Given the description of an element on the screen output the (x, y) to click on. 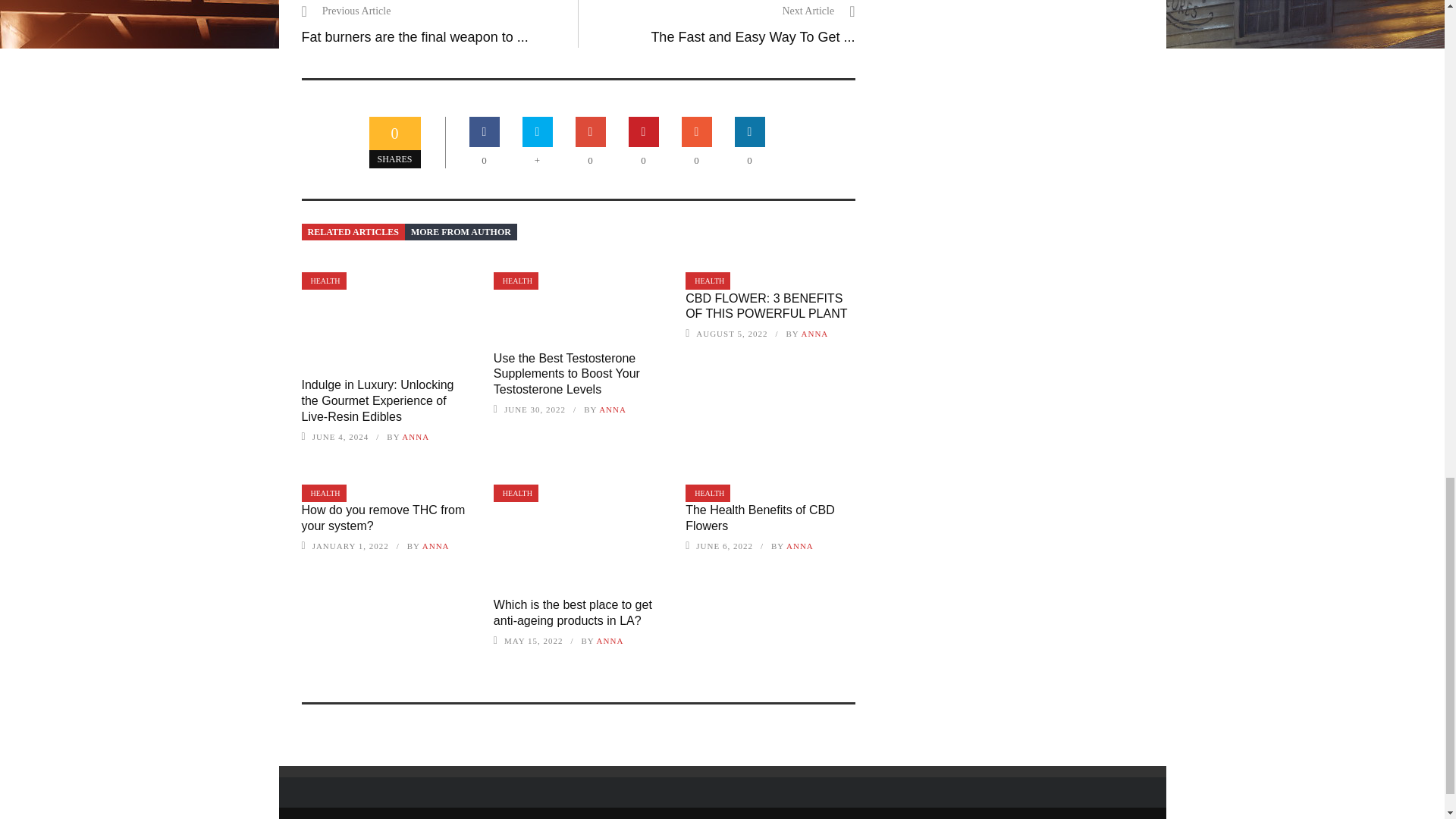
The Fast and Easy Way To Get ... (752, 37)
Fat burners are the final weapon to ... (414, 37)
MORE FROM AUTHOR (460, 231)
RELATED ARTICLES (352, 231)
